Given the description of an element on the screen output the (x, y) to click on. 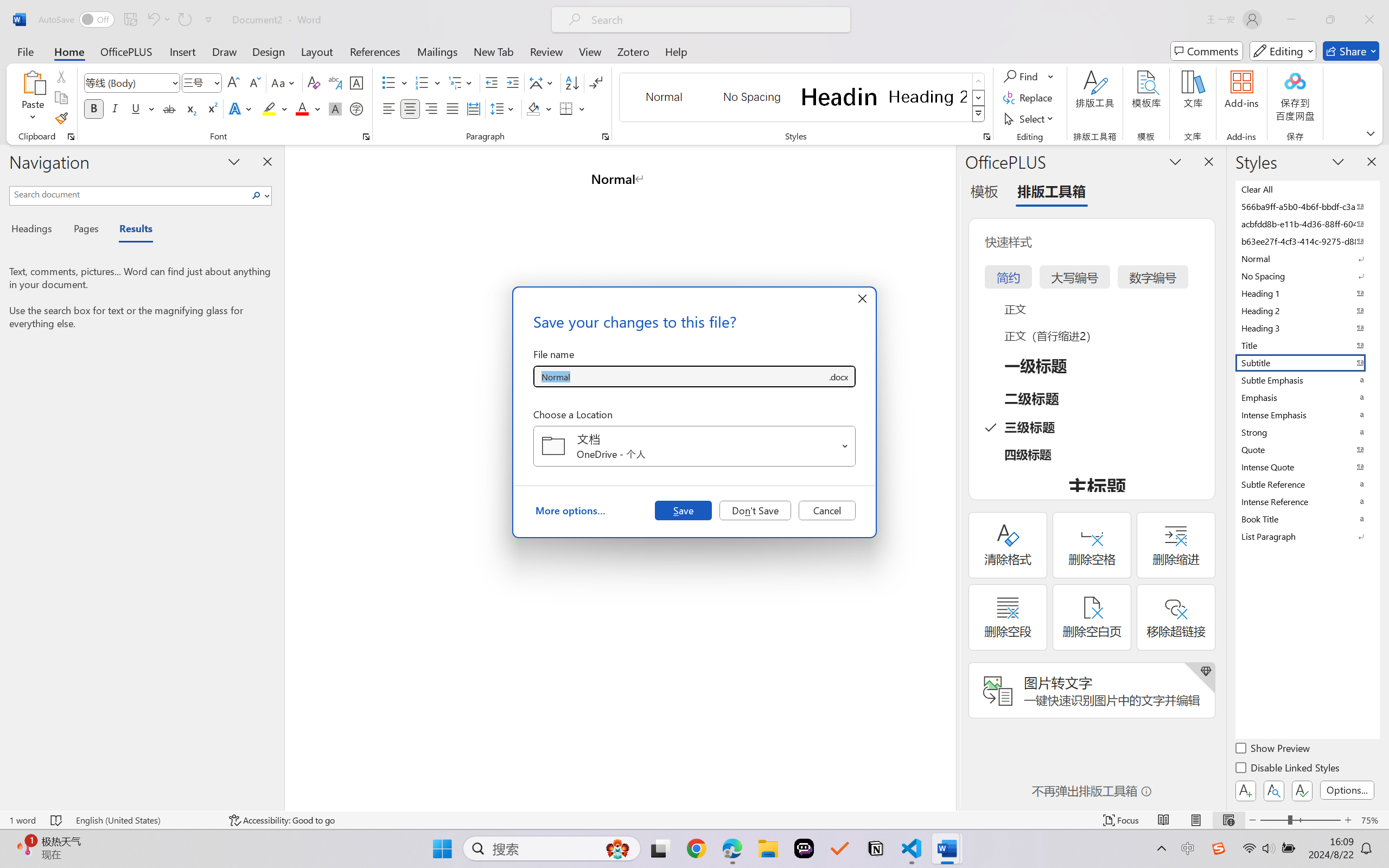
Heading 2 (927, 96)
Enclose Characters... (356, 108)
Paragraph... (605, 136)
Align Right (431, 108)
Styles (978, 113)
OfficePLUS (126, 51)
Home (69, 51)
Numbering (421, 82)
Zotero (632, 51)
Subtle Reference (1306, 484)
Notion (875, 848)
Font (126, 82)
